Given the description of an element on the screen output the (x, y) to click on. 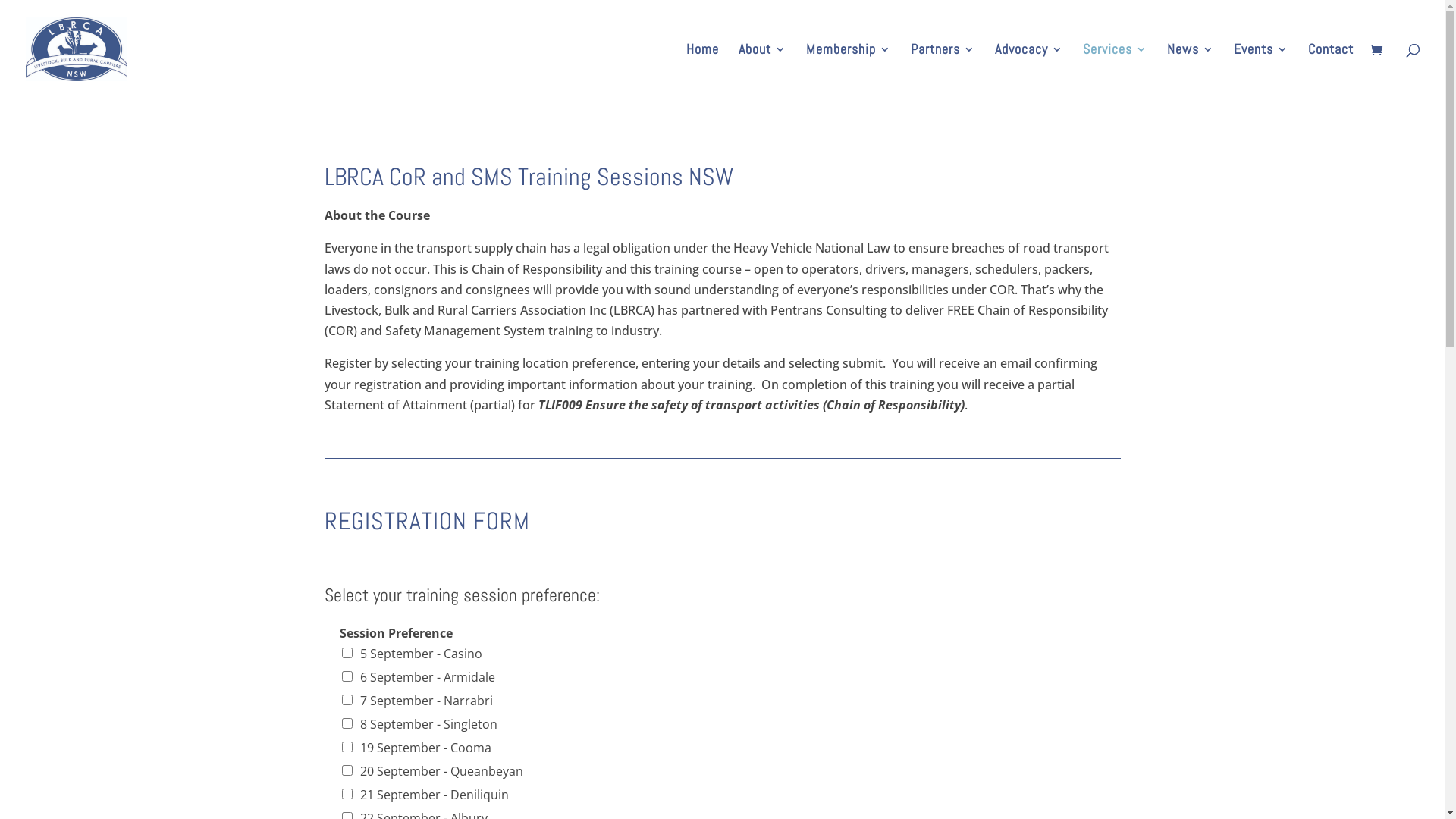
About Element type: text (762, 70)
Partners Element type: text (942, 70)
Advocacy Element type: text (1028, 70)
Contact Element type: text (1330, 70)
News Element type: text (1190, 70)
Events Element type: text (1260, 70)
Membership Element type: text (848, 70)
Services Element type: text (1114, 70)
Home Element type: text (702, 70)
